Given the description of an element on the screen output the (x, y) to click on. 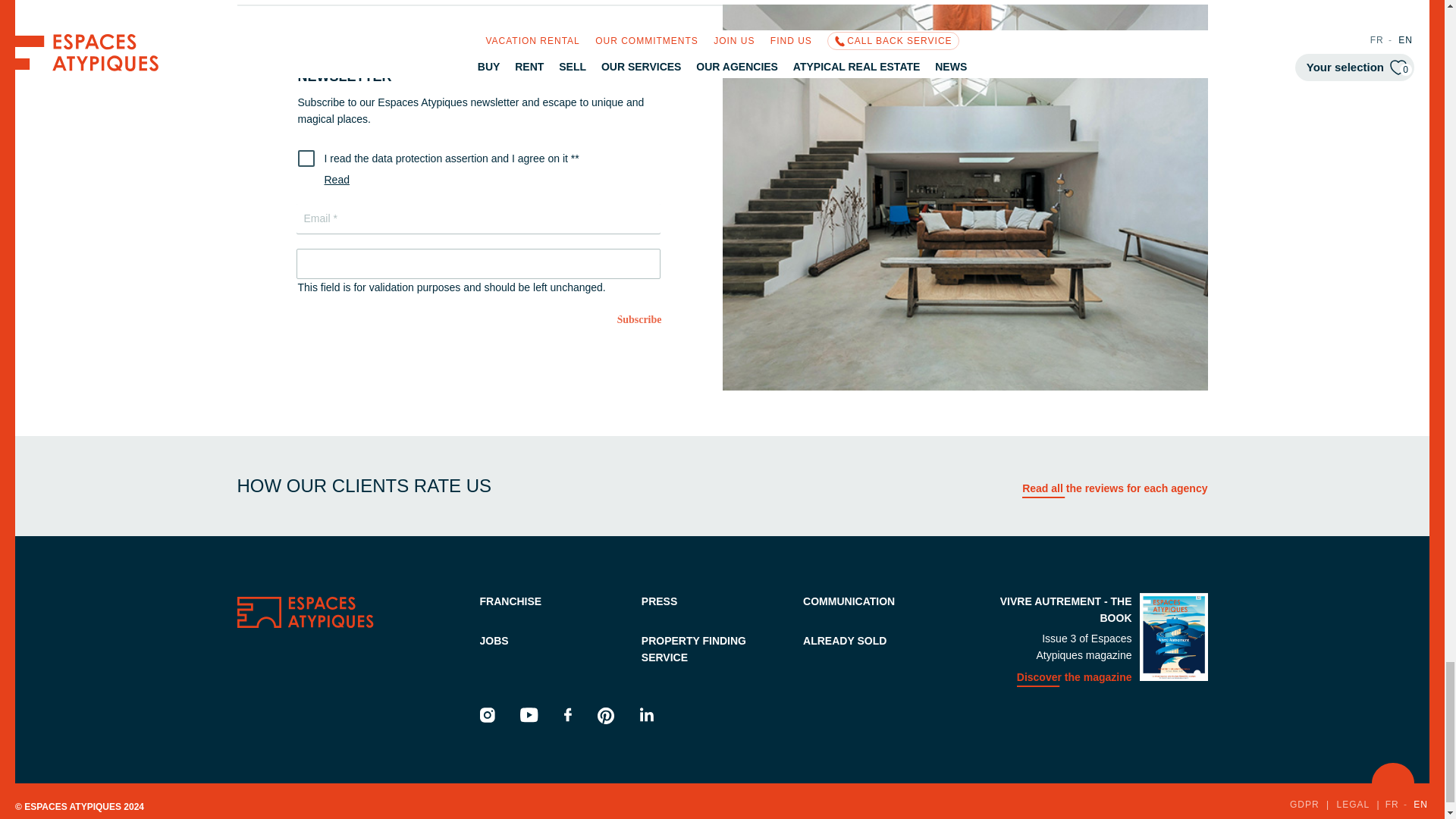
Subscribe (638, 321)
